Given the description of an element on the screen output the (x, y) to click on. 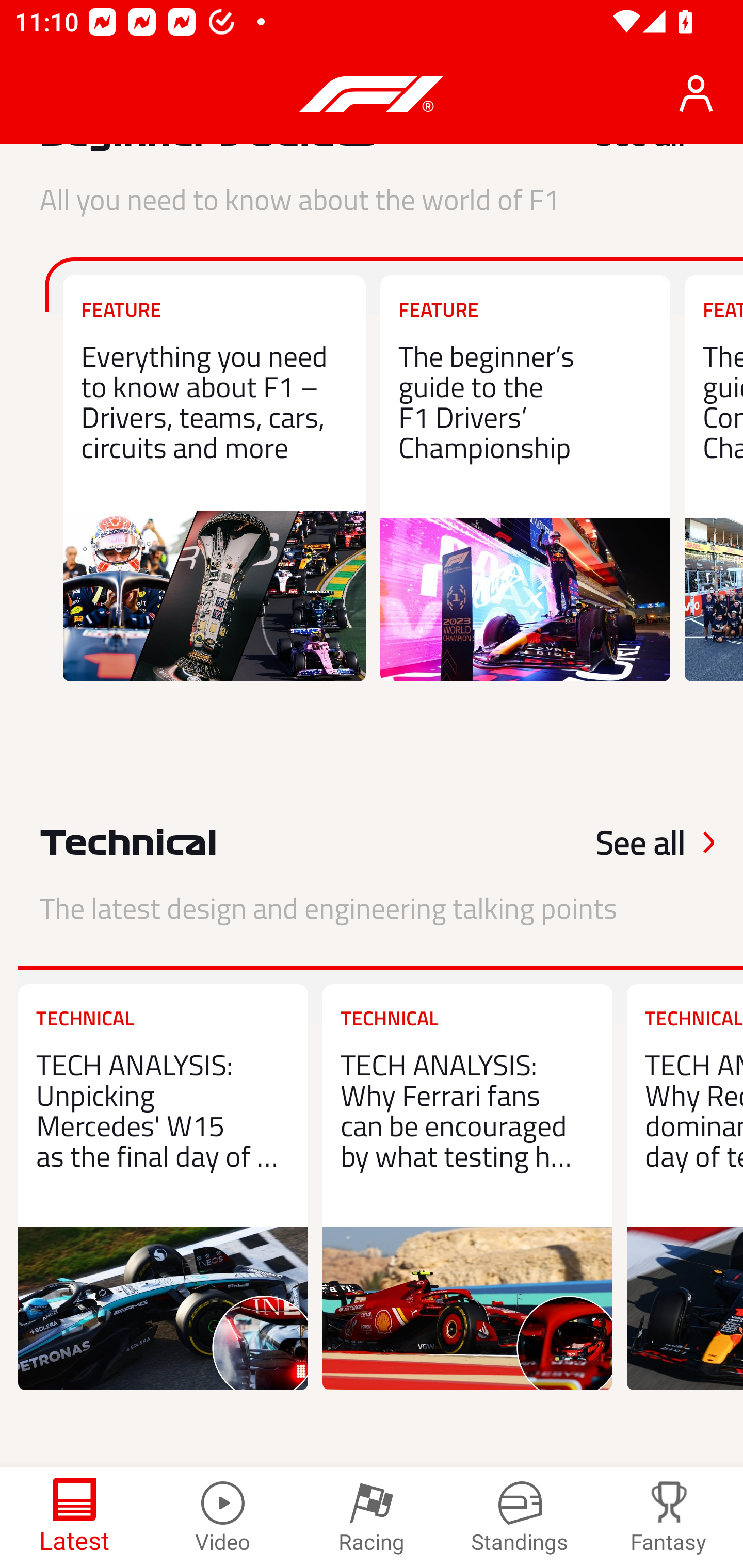
See all (617, 841)
Video (222, 1517)
Racing (371, 1517)
Standings (519, 1517)
Fantasy (668, 1517)
